Given the description of an element on the screen output the (x, y) to click on. 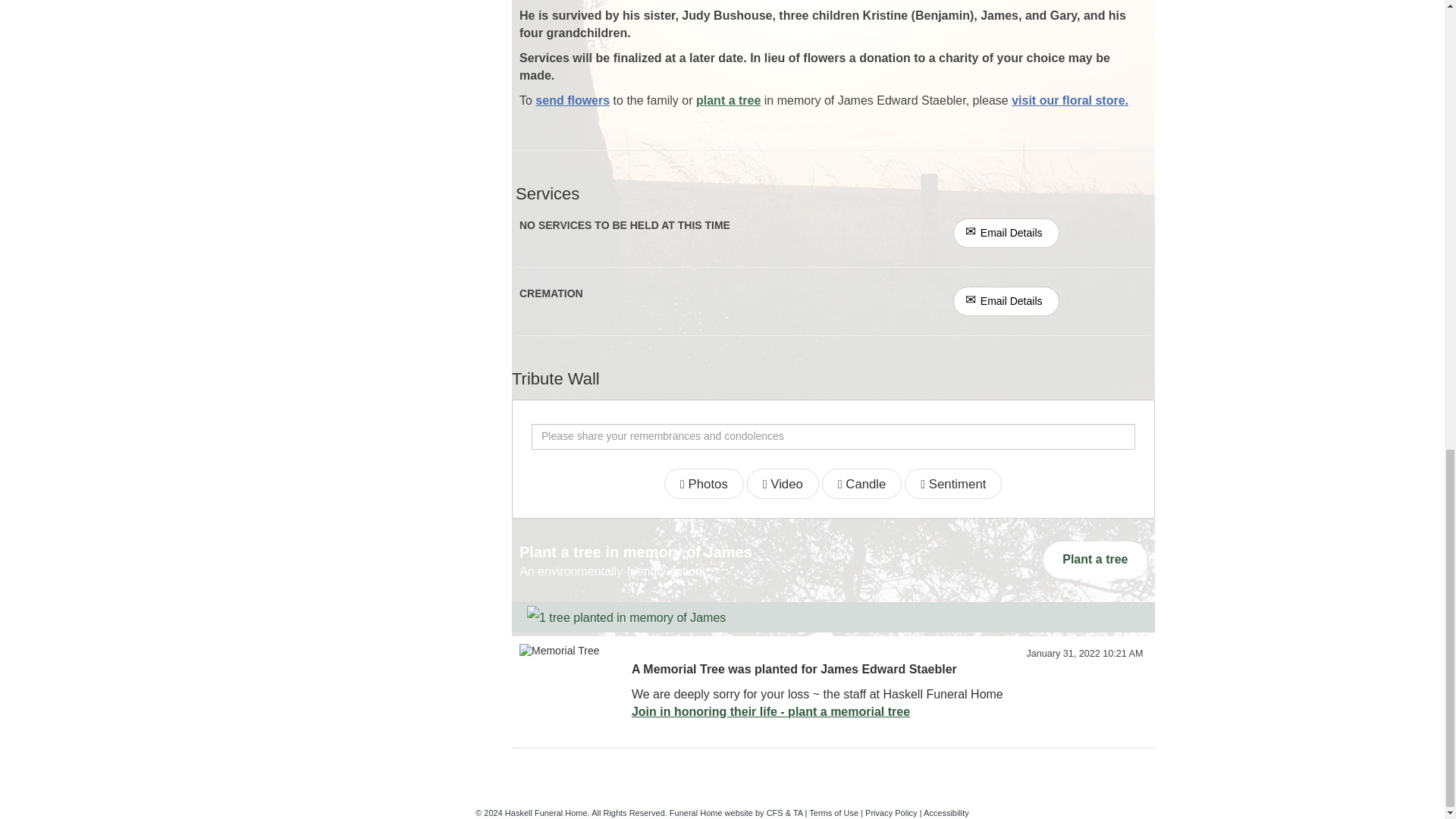
Email Details (1006, 233)
Email Details (1006, 301)
visit our floral store. (1069, 100)
Plant a tree (1095, 559)
Join in honoring their life - plant a memorial tree (770, 711)
TA (798, 812)
Privacy Policy (890, 812)
send flowers (572, 100)
Terms of Use (834, 812)
CFS (775, 812)
Plant a tree (1095, 559)
plant a tree (727, 100)
